Given the description of an element on the screen output the (x, y) to click on. 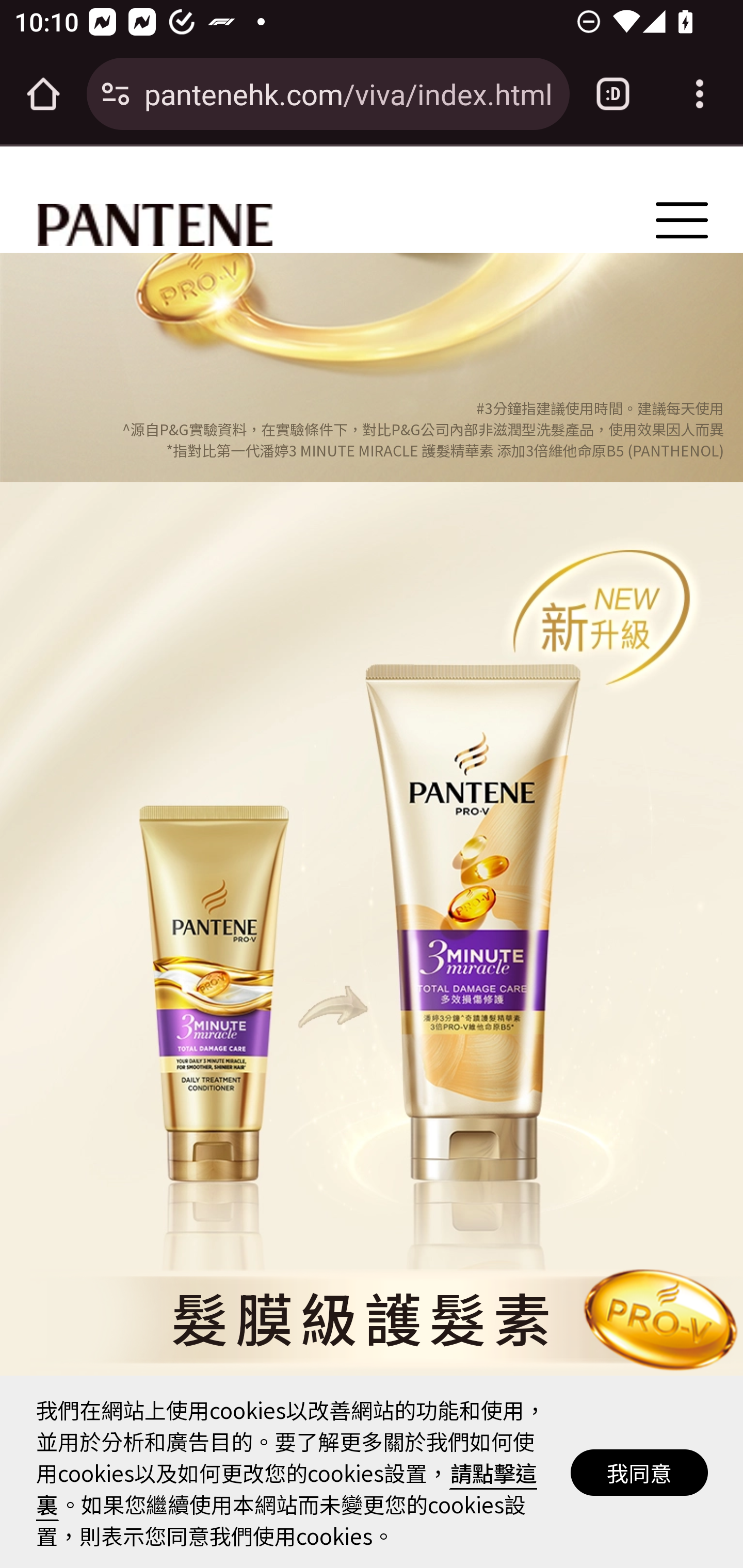
Open the home page (43, 93)
Connection is secure (115, 93)
Switch or close tabs (612, 93)
Customize and control Google Chrome (699, 93)
pantenehk.com/viva/index.html (349, 92)
pantene 潘婷 PANTENE logo pantene 潘婷 PANTENE logo (155, 225)
我同意 (639, 1473)
請點擊這裏 (286, 1489)
